Given the description of an element on the screen output the (x, y) to click on. 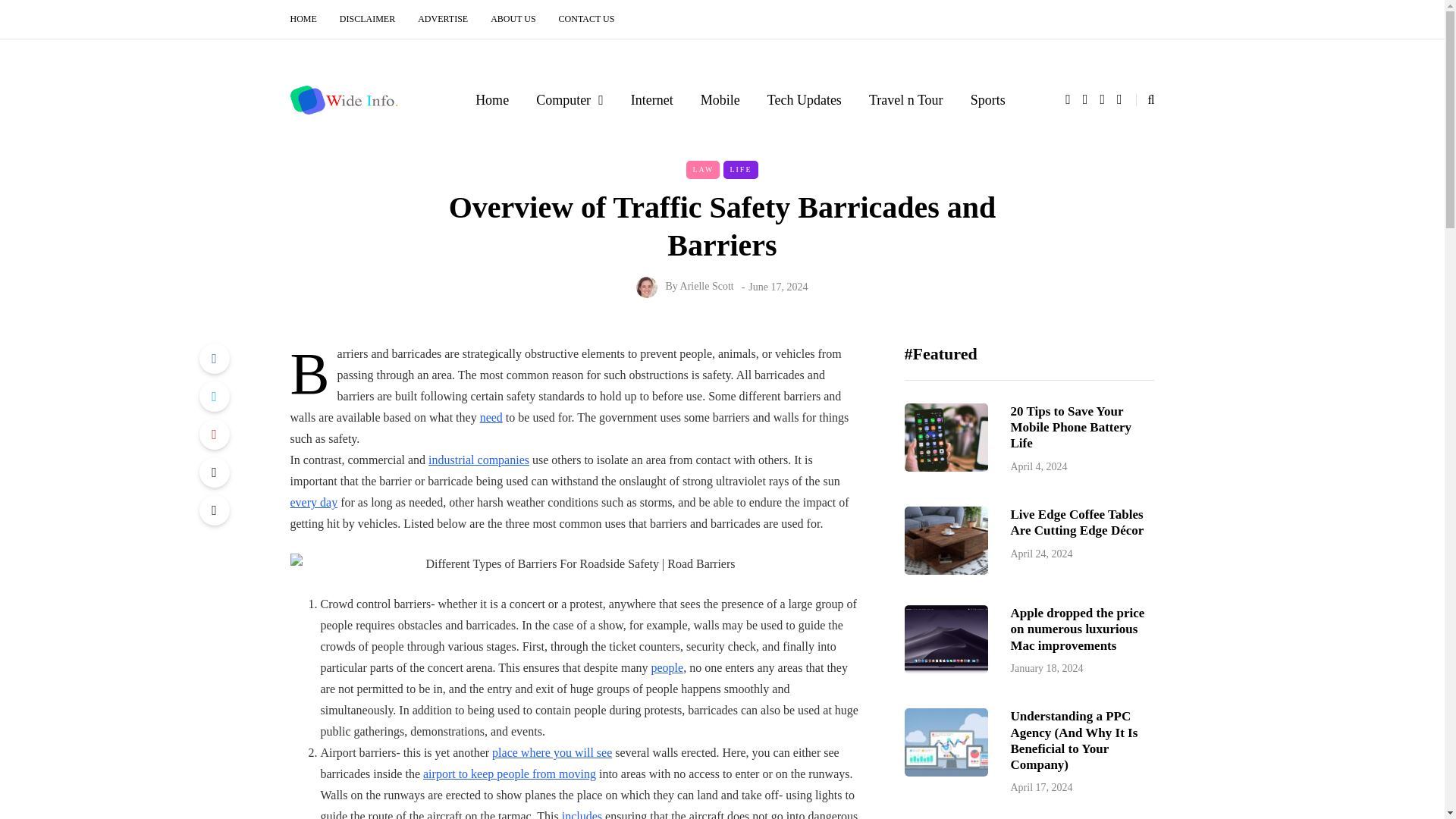
Sports (987, 99)
Posts by Arielle Scott (706, 285)
Computer (569, 99)
Tweet this (213, 396)
Share by Email (213, 510)
Travel n Tour (906, 99)
Overview of Traffic Safety Barricades and Barriers 1 (574, 563)
Tech Updates (805, 99)
Home (491, 99)
DISCLAIMER (367, 19)
